Given the description of an element on the screen output the (x, y) to click on. 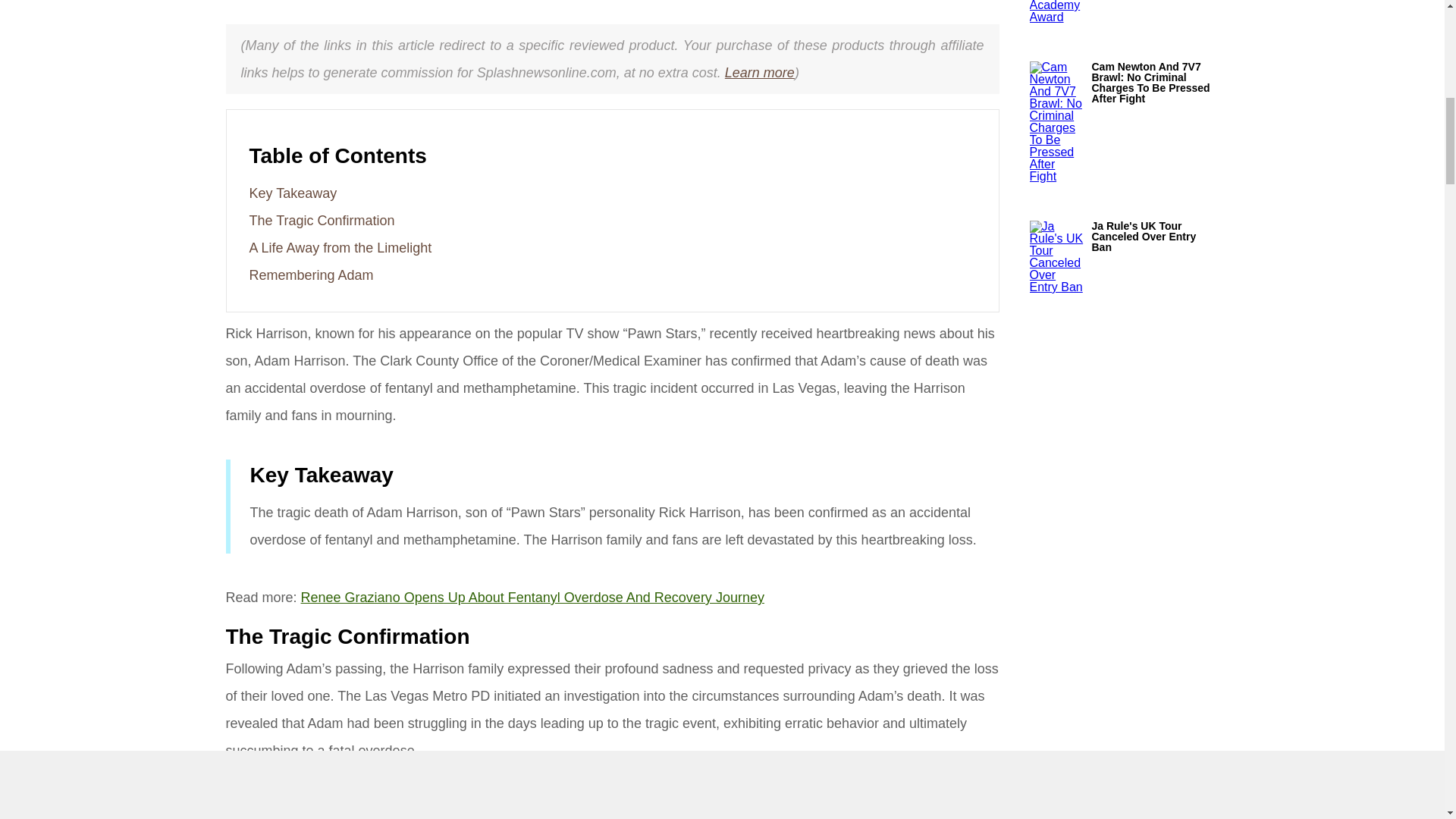
Learn more (759, 72)
Remembering Adam (310, 274)
Ja Rule's UK Tour Canceled Over Entry Ban (1156, 236)
Key Takeaway (292, 192)
A Life Away from the Limelight (339, 247)
The Tragic Confirmation (321, 220)
